Given the description of an element on the screen output the (x, y) to click on. 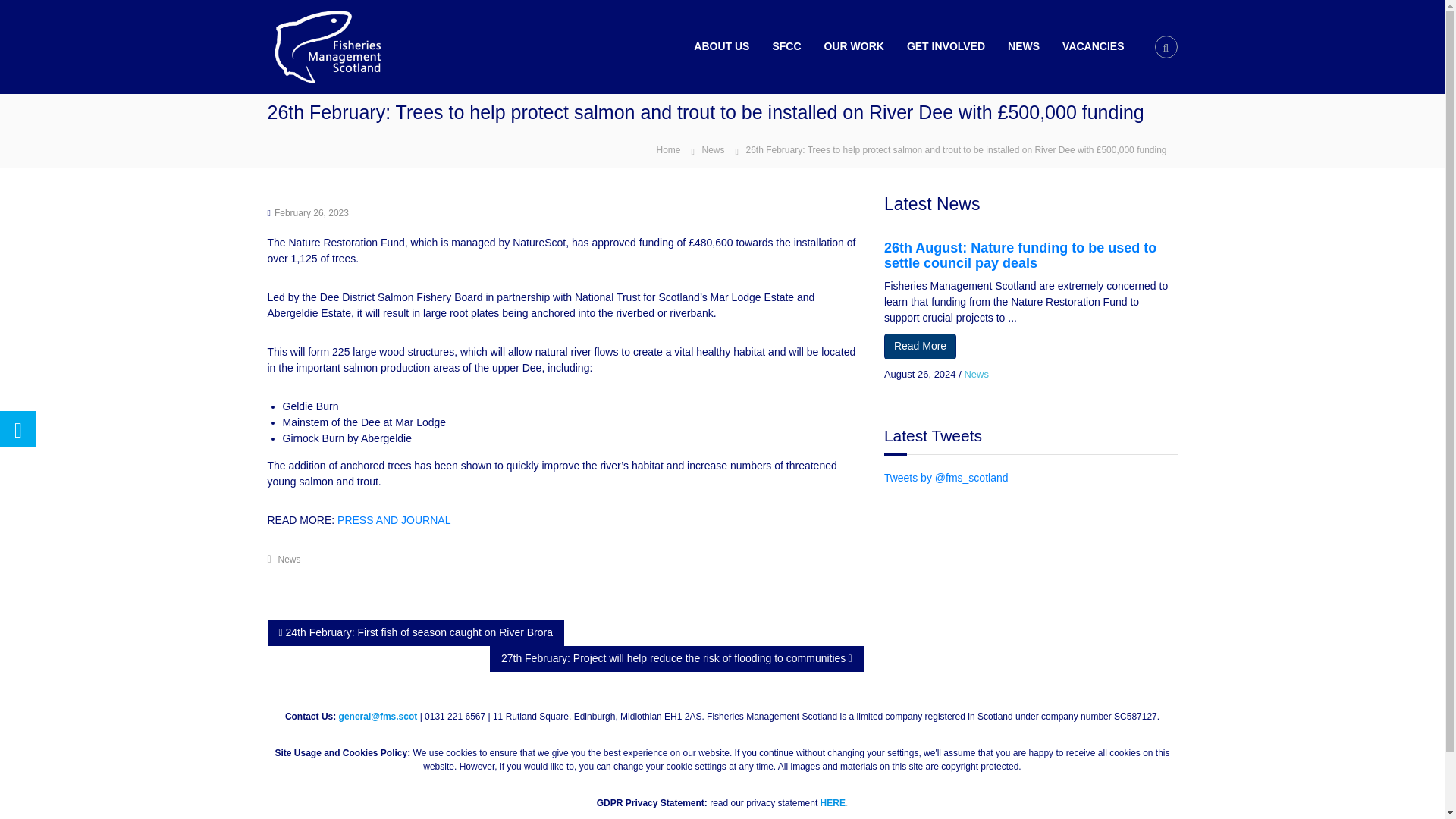
HERE. (834, 802)
Read More (919, 346)
News (975, 374)
NEWS (1023, 46)
News (712, 149)
Home (667, 149)
News (289, 559)
February 26, 2023 (312, 213)
